Given the description of an element on the screen output the (x, y) to click on. 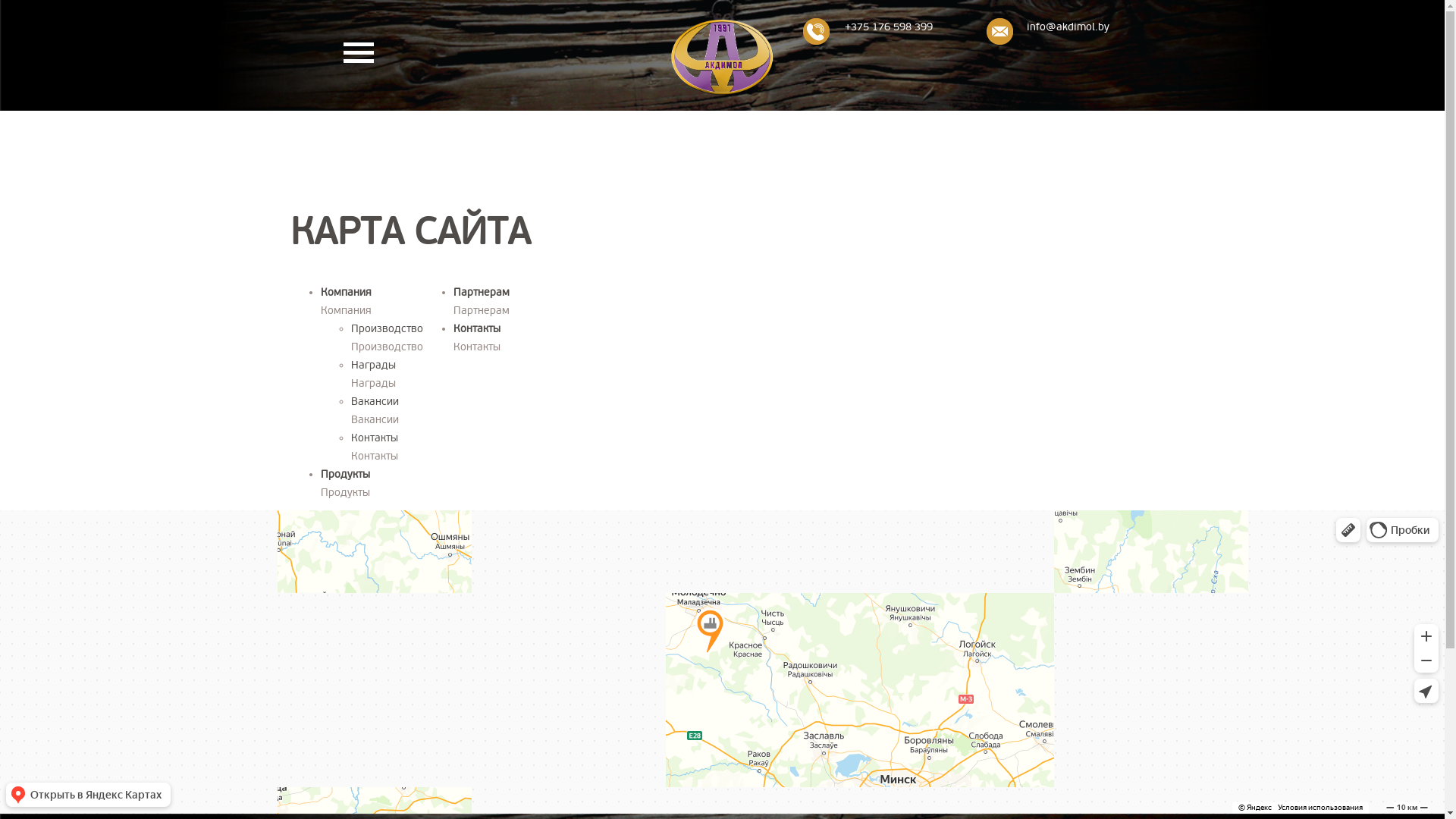
+375 176 598 399 Element type: text (888, 26)
info@akdimol.by Element type: text (1067, 26)
